Given the description of an element on the screen output the (x, y) to click on. 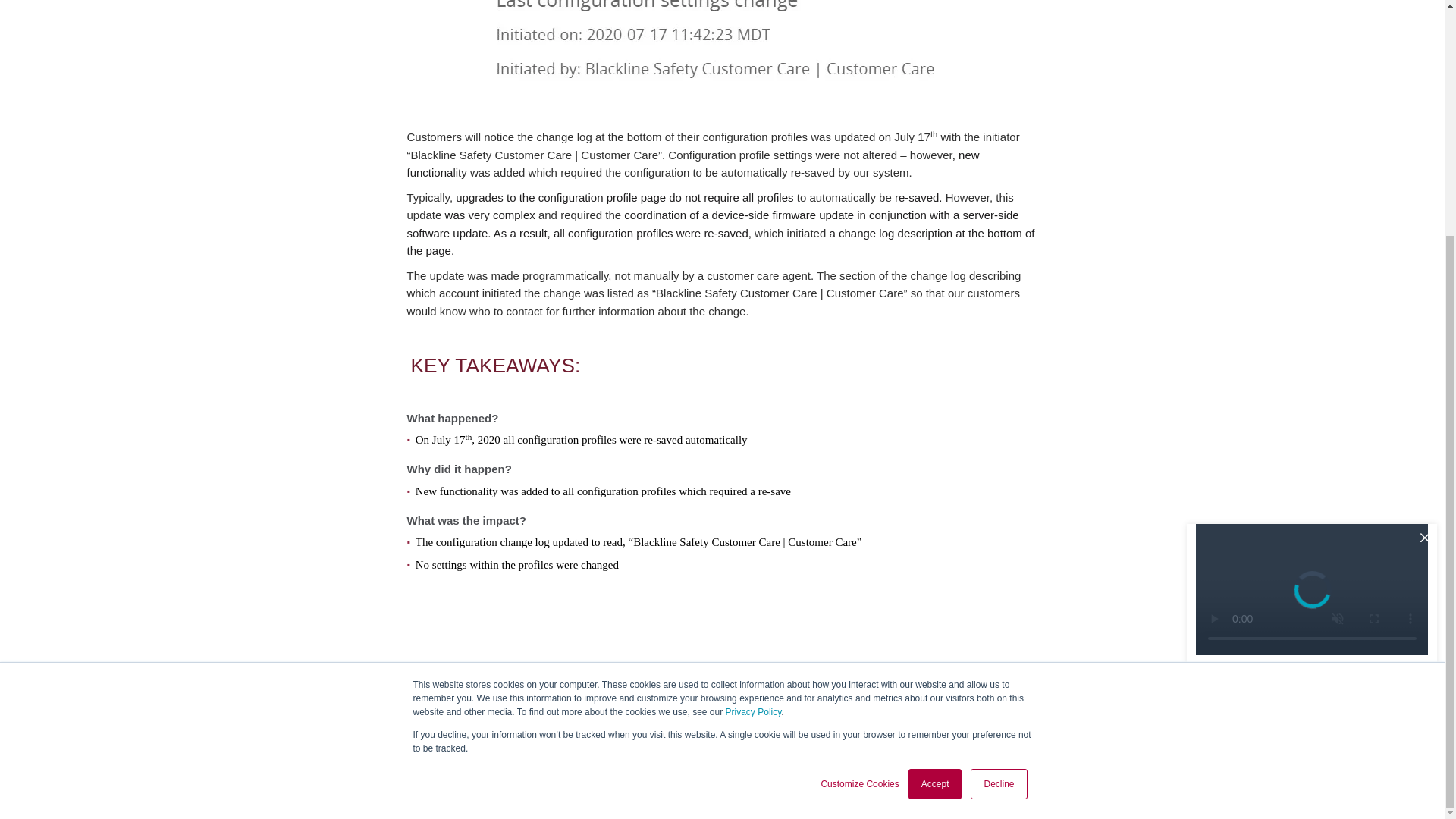
Twitter (1073, 747)
LinkedIn (1012, 747)
Popup CTA (1311, 346)
Decline (998, 462)
YouTube (1104, 747)
Accept (935, 462)
Facebook (1042, 747)
Privacy Policy (753, 390)
Customize Cookies (859, 463)
